Given the description of an element on the screen output the (x, y) to click on. 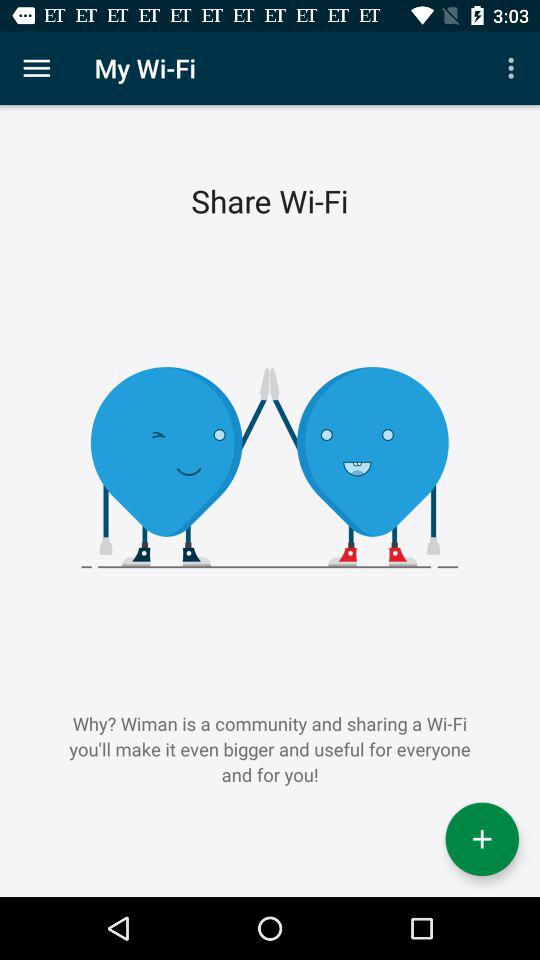
launch item above why wiman is icon (36, 68)
